Given the description of an element on the screen output the (x, y) to click on. 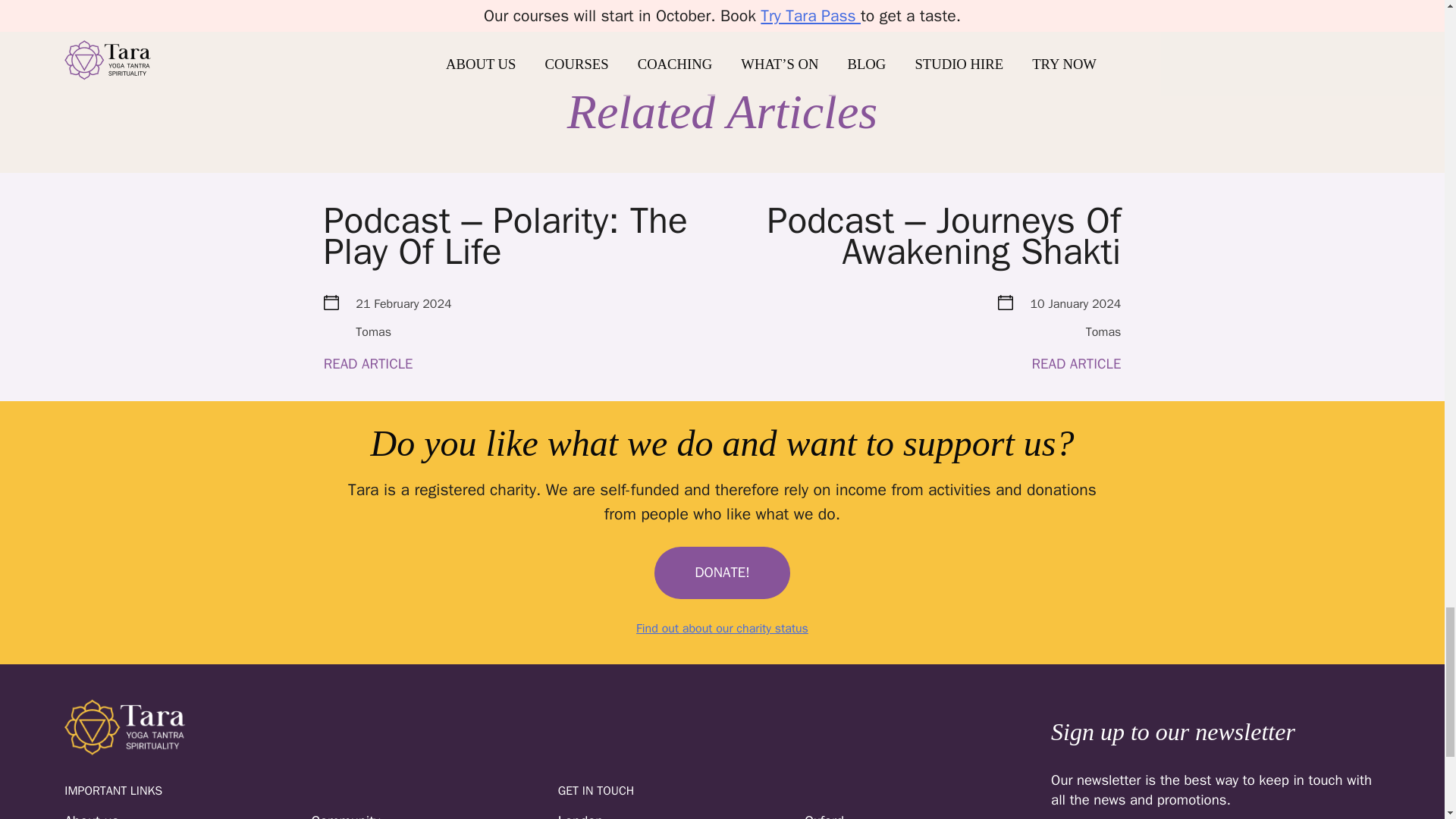
Post Comment (721, 7)
About us (187, 815)
DONATE! (721, 572)
READ ARTICLE (368, 363)
READ ARTICLE (931, 363)
Community (434, 815)
Post Comment (721, 7)
Find out about our charity status (721, 628)
